Given the description of an element on the screen output the (x, y) to click on. 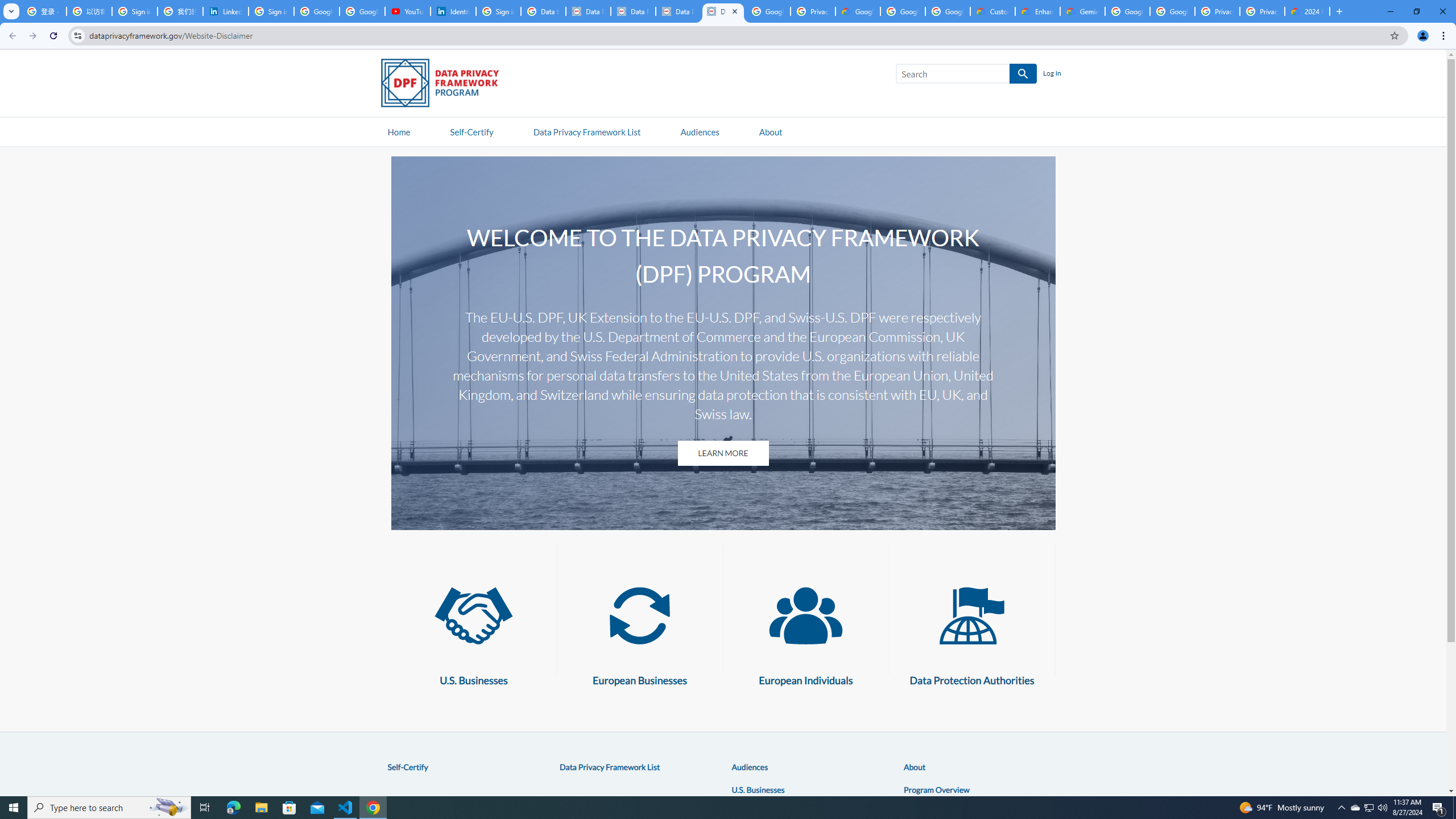
European Individuals European Individuals (805, 630)
European Businesses European Businesses (639, 630)
SEARCH (1022, 73)
